Given the description of an element on the screen output the (x, y) to click on. 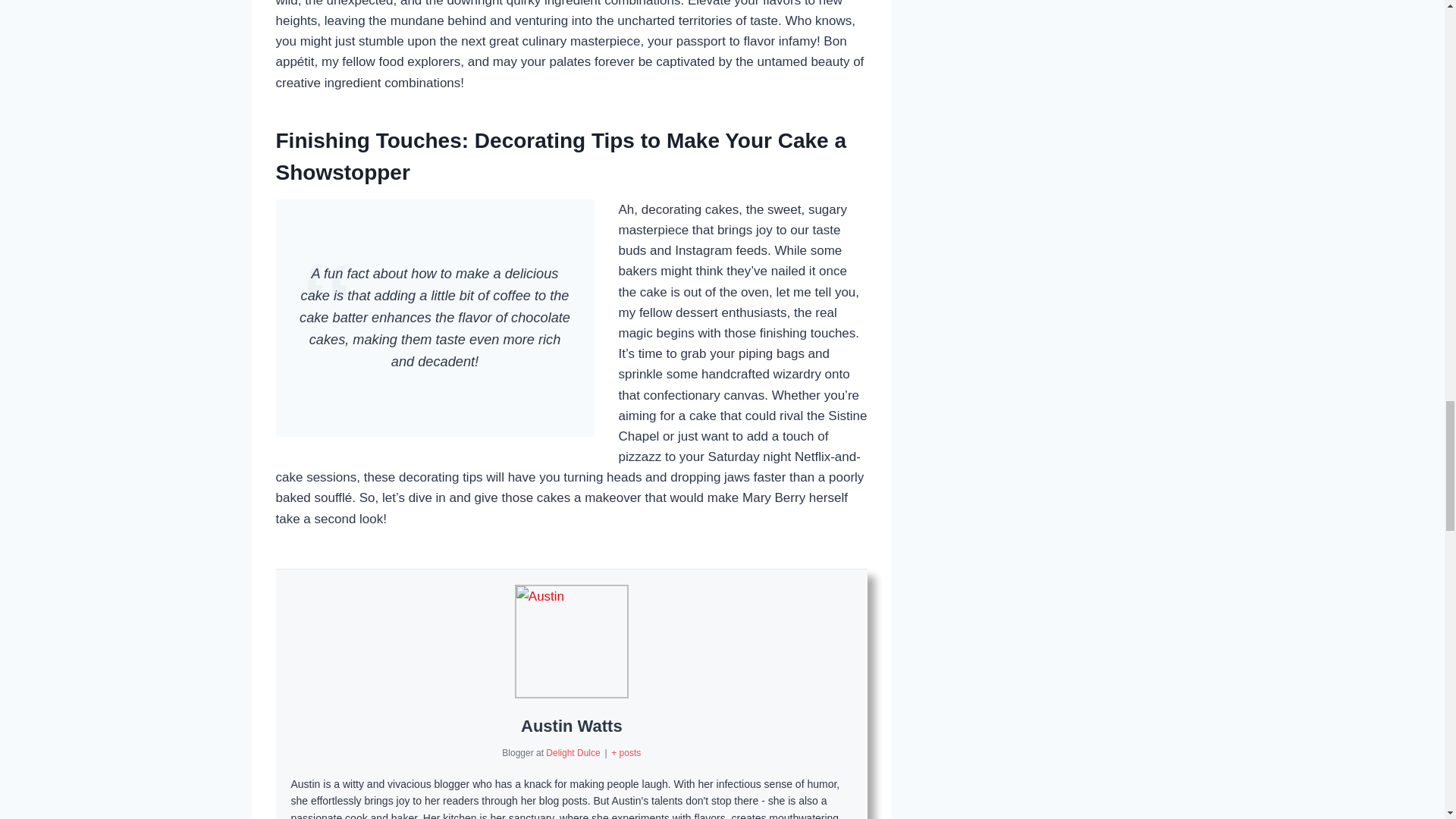
Austin Watts (572, 725)
Delight Dulce (574, 752)
